Given the description of an element on the screen output the (x, y) to click on. 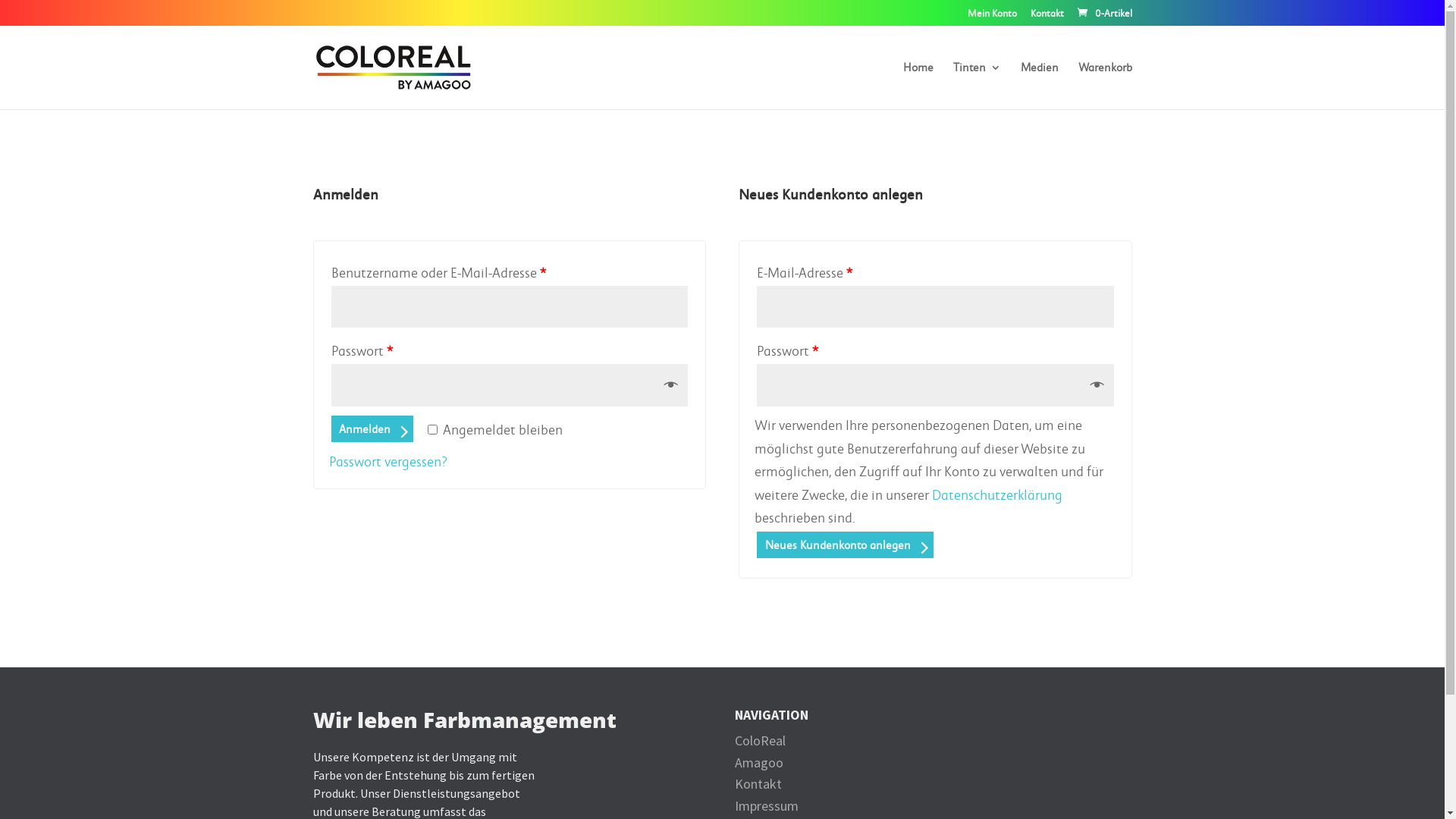
Kontakt Element type: text (1046, 16)
Impressum Element type: text (766, 805)
Kontakt Element type: text (757, 783)
Passwort vergessen? Element type: text (388, 460)
Mein Konto Element type: text (991, 16)
Home Element type: text (917, 85)
Anmelden Element type: text (371, 428)
Amagoo Element type: text (758, 762)
Warenkorb Element type: text (1105, 85)
Medien Element type: text (1039, 85)
ColoReal Element type: text (759, 740)
Tinten Element type: text (976, 85)
Neues Kundenkonto anlegen Element type: text (844, 544)
0-Artikel Element type: text (1103, 12)
